Given the description of an element on the screen output the (x, y) to click on. 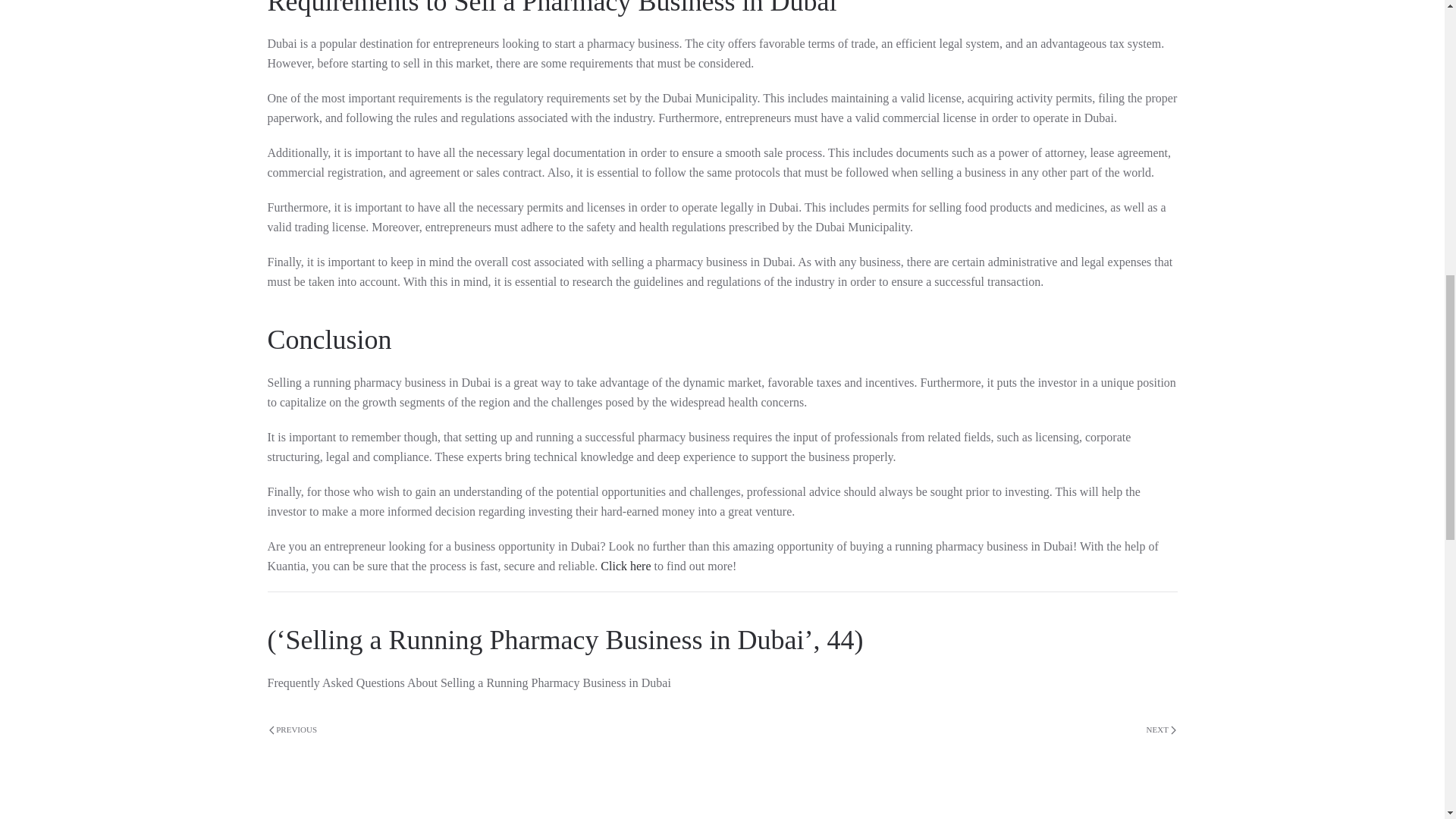
Click here (624, 565)
PREVIOUS (292, 730)
NEXT (1160, 730)
